Given the description of an element on the screen output the (x, y) to click on. 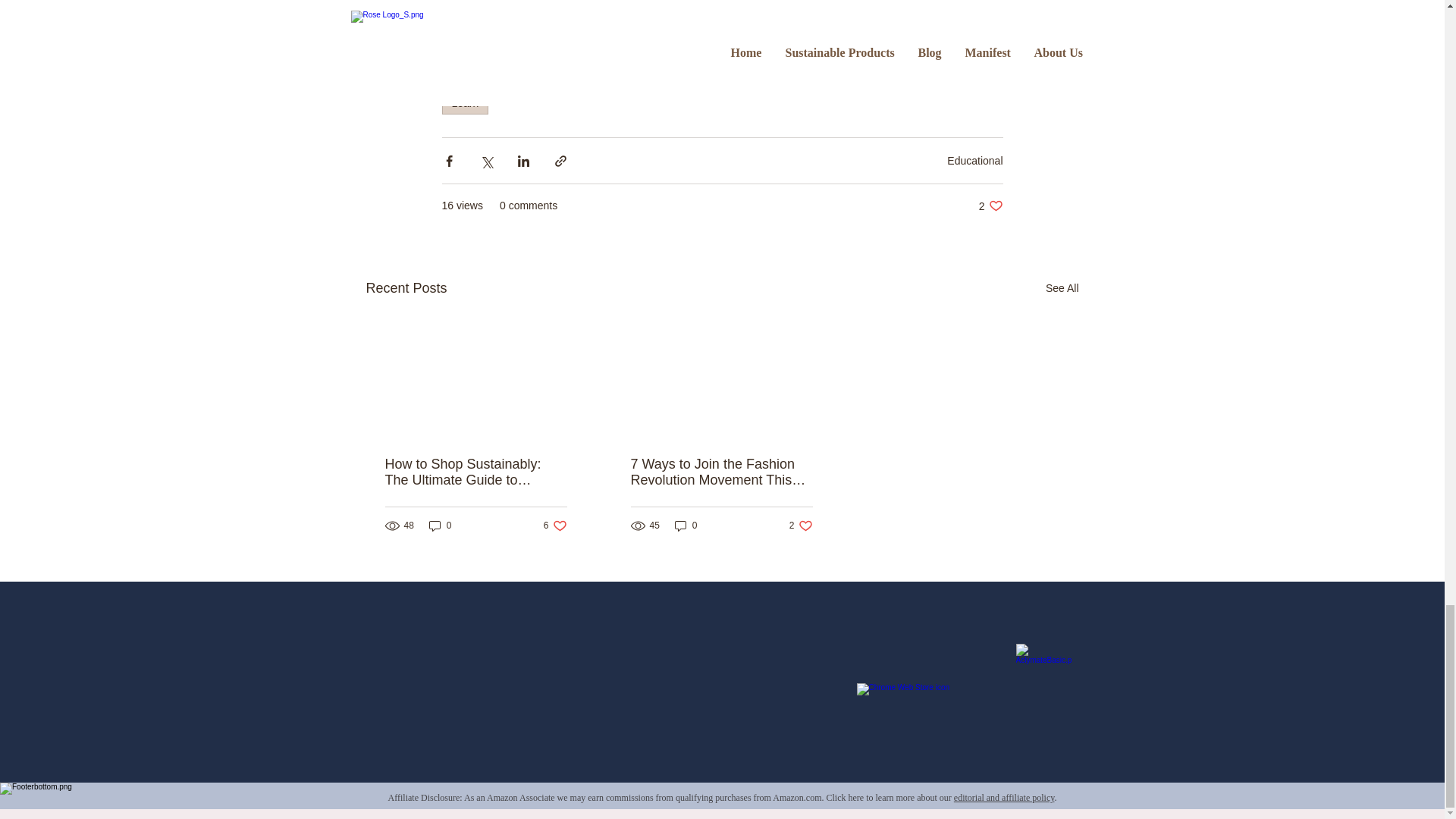
ADD TO CHROME - IT'S FREE (990, 205)
askBelynda Google Chrome Extension Link (725, 15)
See All (927, 704)
Educational (1061, 288)
Learn (975, 160)
